Given the description of an element on the screen output the (x, y) to click on. 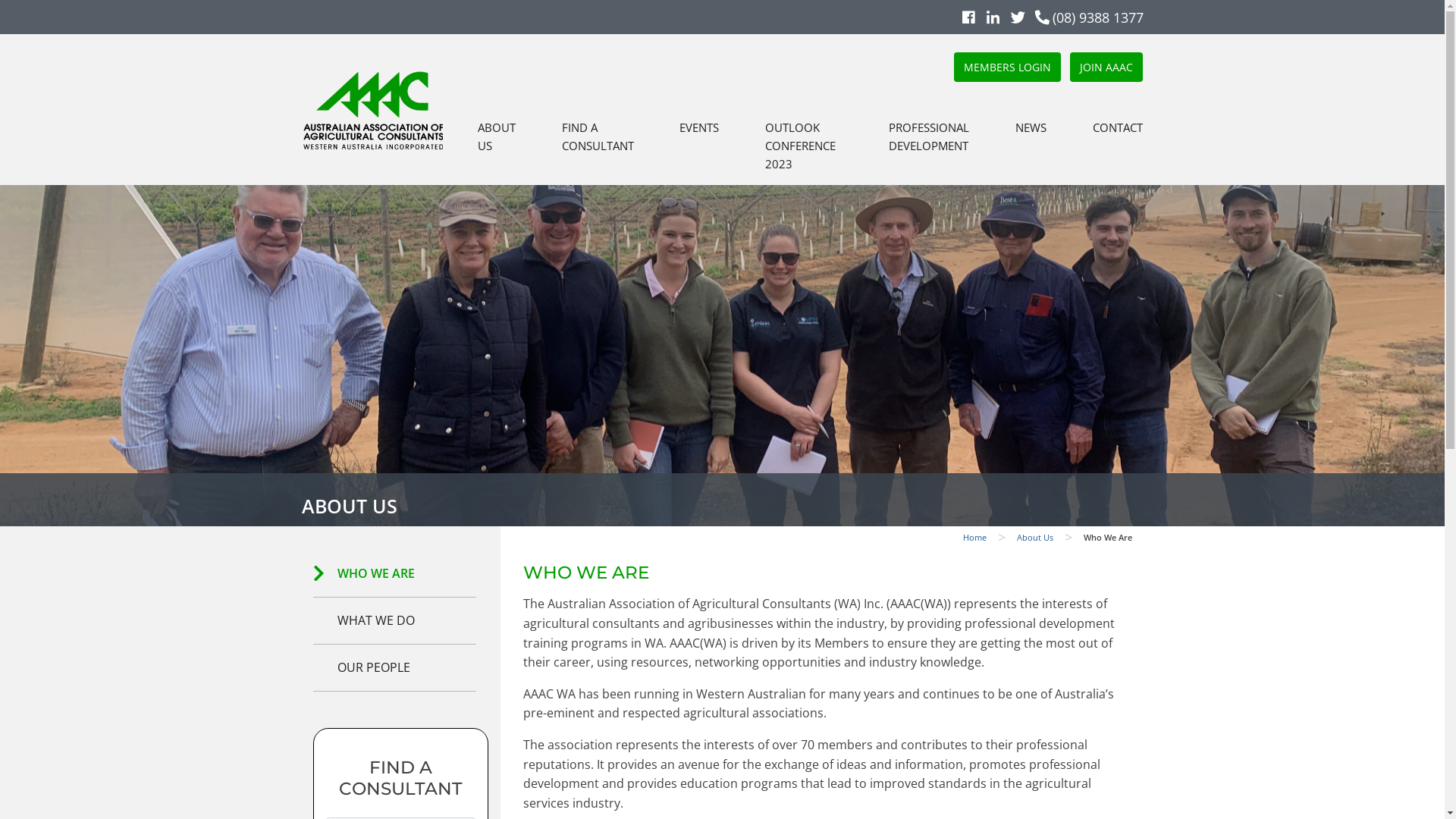
LinkedIn Element type: text (991, 16)
Home Element type: text (974, 536)
(08) 9388 1377 Element type: text (1085, 16)
OUTLOOK CONFERENCE 2023 Element type: text (803, 145)
WHO WE ARE Element type: text (394, 573)
WHAT WE DO Element type: text (394, 620)
NEWS Element type: text (1030, 127)
ABOUT US Element type: text (496, 136)
Twitter Element type: text (1017, 16)
CONTACT Element type: text (1116, 127)
OUR PEOPLE Element type: text (394, 667)
Facebook Element type: text (967, 16)
PROFESSIONAL DEVELOPMENT Element type: text (928, 136)
EVENTS Element type: text (698, 127)
FIND A CONSULTANT Element type: text (597, 136)
JOIN AAAC Element type: text (1105, 66)
About Us Element type: text (1034, 536)
MEMBERS LOGIN Element type: text (1006, 66)
